Given the description of an element on the screen output the (x, y) to click on. 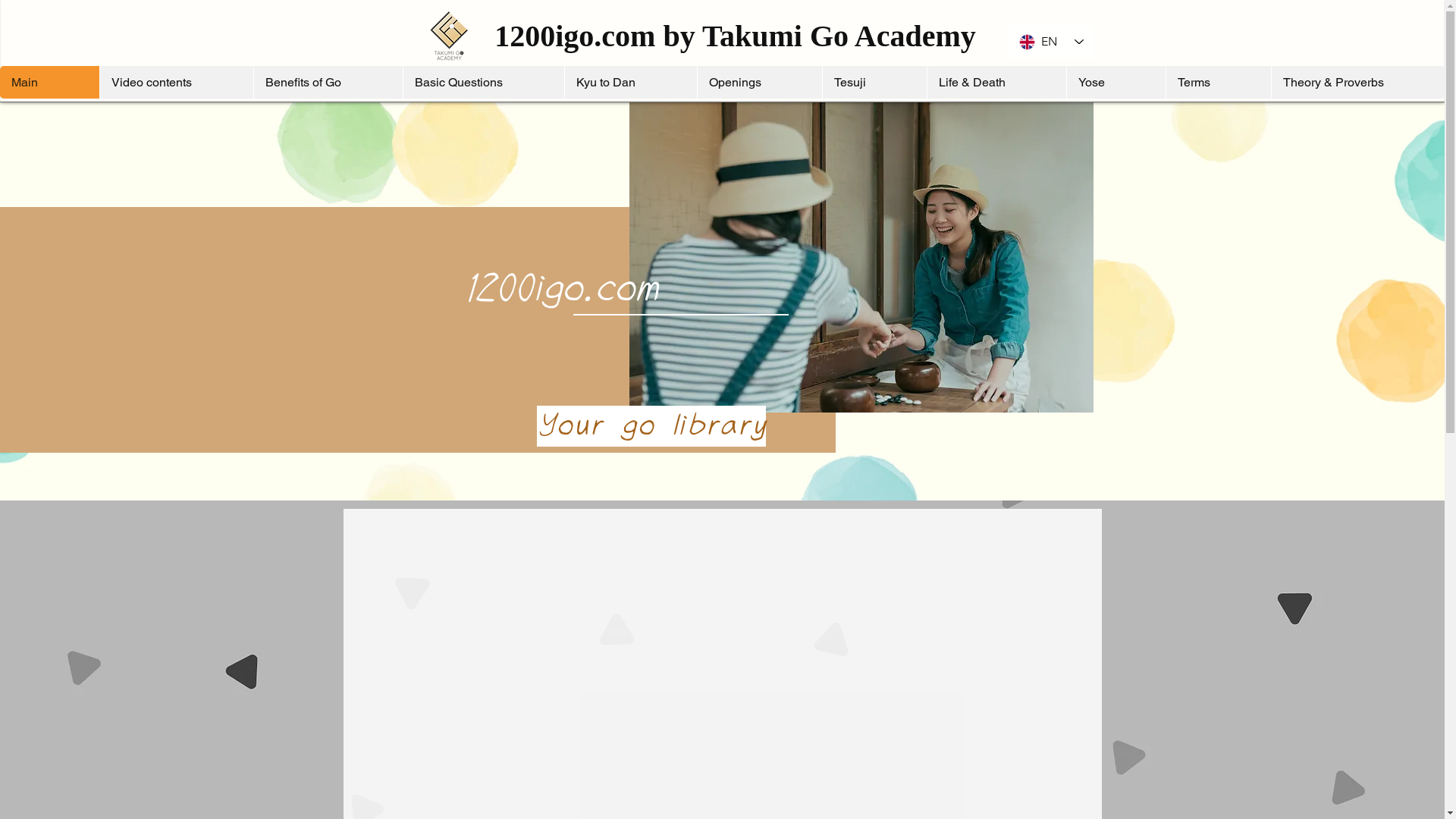
Kyu to Dan Element type: text (630, 81)
Life & Death Element type: text (996, 81)
Video contents Element type: text (176, 81)
Theory & Proverbs Element type: text (1357, 81)
1200igo.com by Takumi Go Academy Element type: text (734, 35)
Terms Element type: text (1217, 81)
Yose Element type: text (1115, 81)
Benefits of Go Element type: text (327, 81)
TWIPLA (Visitor Analytics) Element type: hover (229, 282)
Tesuji Element type: text (874, 81)
Main Element type: text (49, 81)
Openings Element type: text (759, 81)
Basic Questions Element type: text (483, 81)
